Given the description of an element on the screen output the (x, y) to click on. 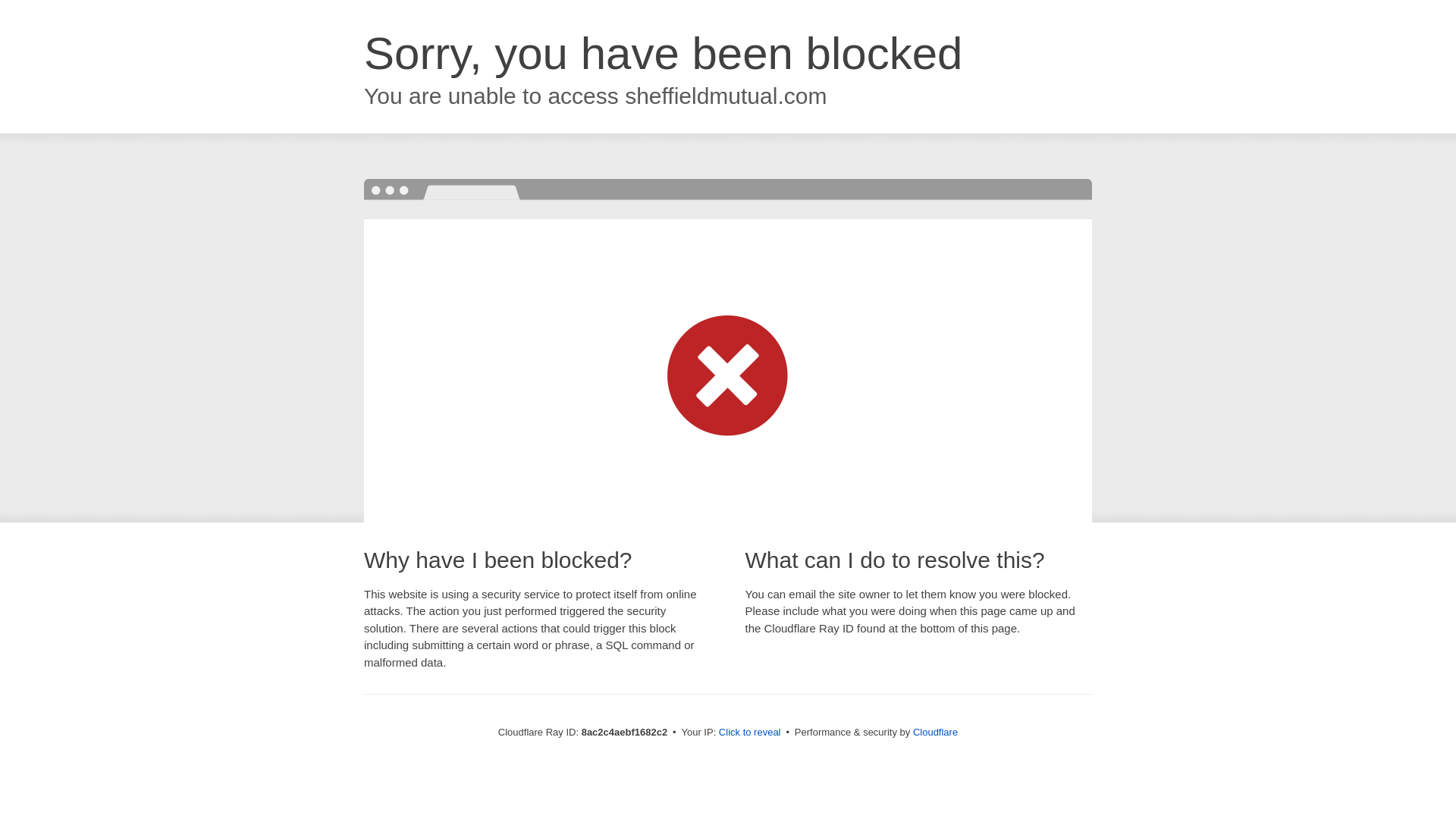
Cloudflare (935, 731)
Click to reveal (749, 732)
